Given the description of an element on the screen output the (x, y) to click on. 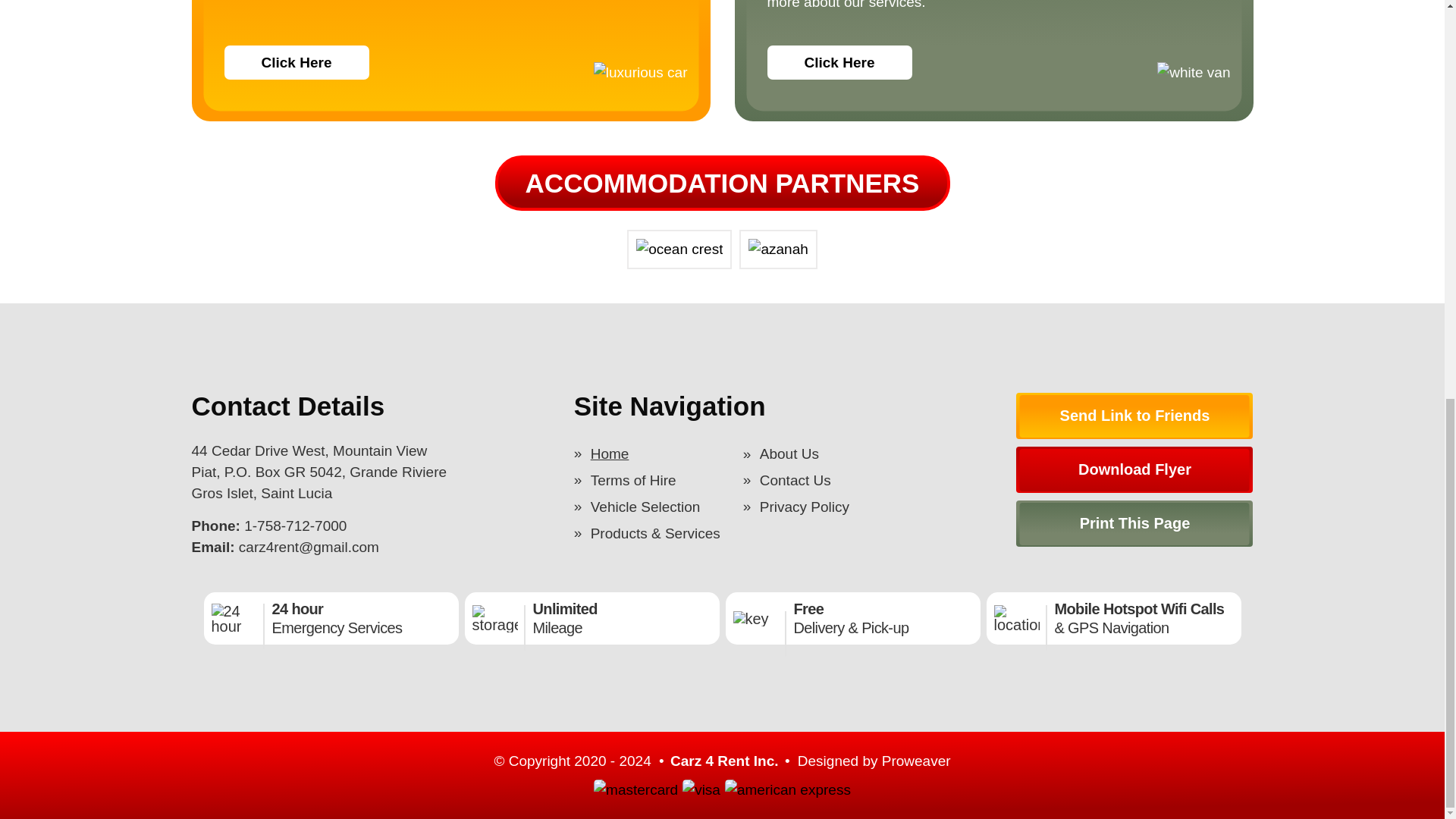
Privacy Policy (824, 506)
Click Here (839, 62)
Contact Us (824, 479)
Home (655, 453)
Click Here (296, 62)
Proweaver (916, 760)
Vehicle Selection (655, 506)
Send Link to Friends (1134, 415)
Print This Page (1134, 523)
About Us (824, 453)
